Given the description of an element on the screen output the (x, y) to click on. 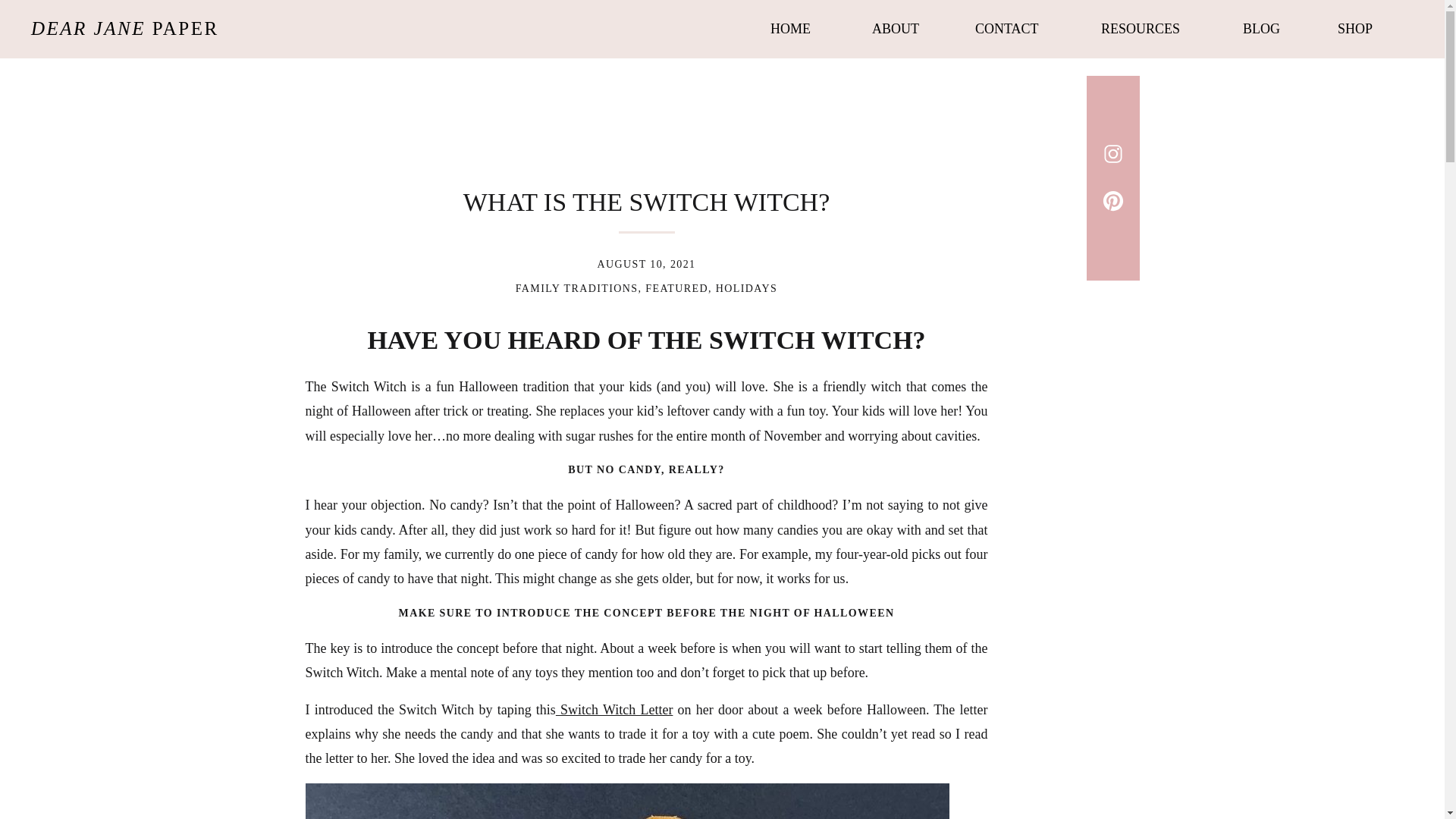
SHOP (1359, 26)
DEAR JANE PAPER (126, 28)
FEATURED (676, 288)
BLOG (1265, 26)
CONTACT (1012, 26)
Switch Witch Letter  (626, 800)
Switch Witch Letter (614, 709)
HOLIDAYS (746, 288)
FAMILY TRADITIONS (577, 288)
HOME (795, 26)
RESOURCES (1146, 26)
ABOUT (898, 26)
